Given the description of an element on the screen output the (x, y) to click on. 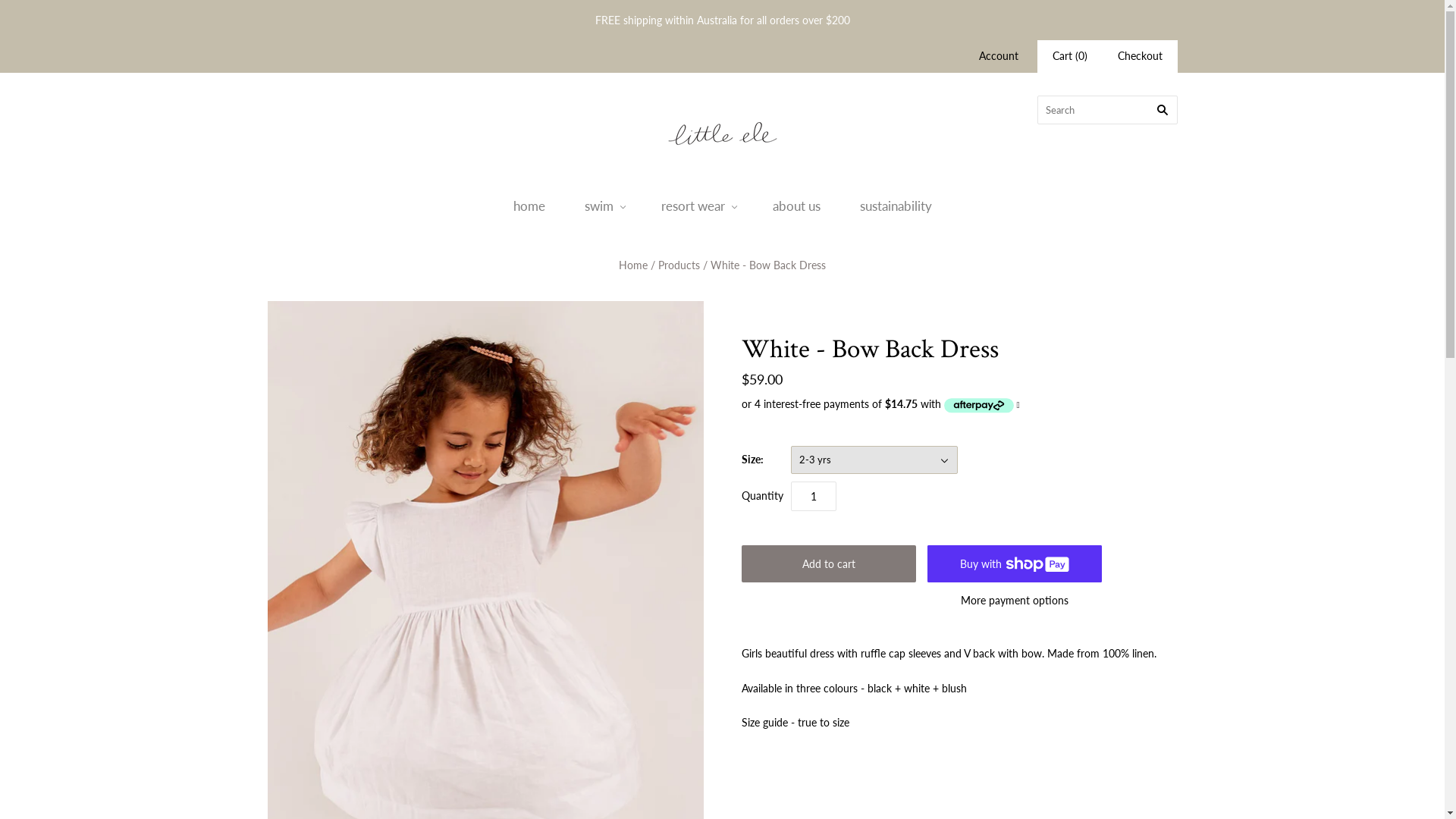
about us Element type: text (795, 205)
swim Element type: text (602, 205)
FREE shipping within Australia for all orders over $200 Element type: text (722, 20)
Cart (0) Element type: text (1069, 56)
Checkout Element type: text (1139, 56)
sustainability Element type: text (895, 205)
Home Element type: text (632, 264)
More payment options Element type: text (1013, 600)
resort wear Element type: text (697, 205)
Add to cart Element type: text (828, 563)
Products Element type: text (678, 264)
home Element type: text (528, 205)
Account Element type: text (997, 55)
